Given the description of an element on the screen output the (x, y) to click on. 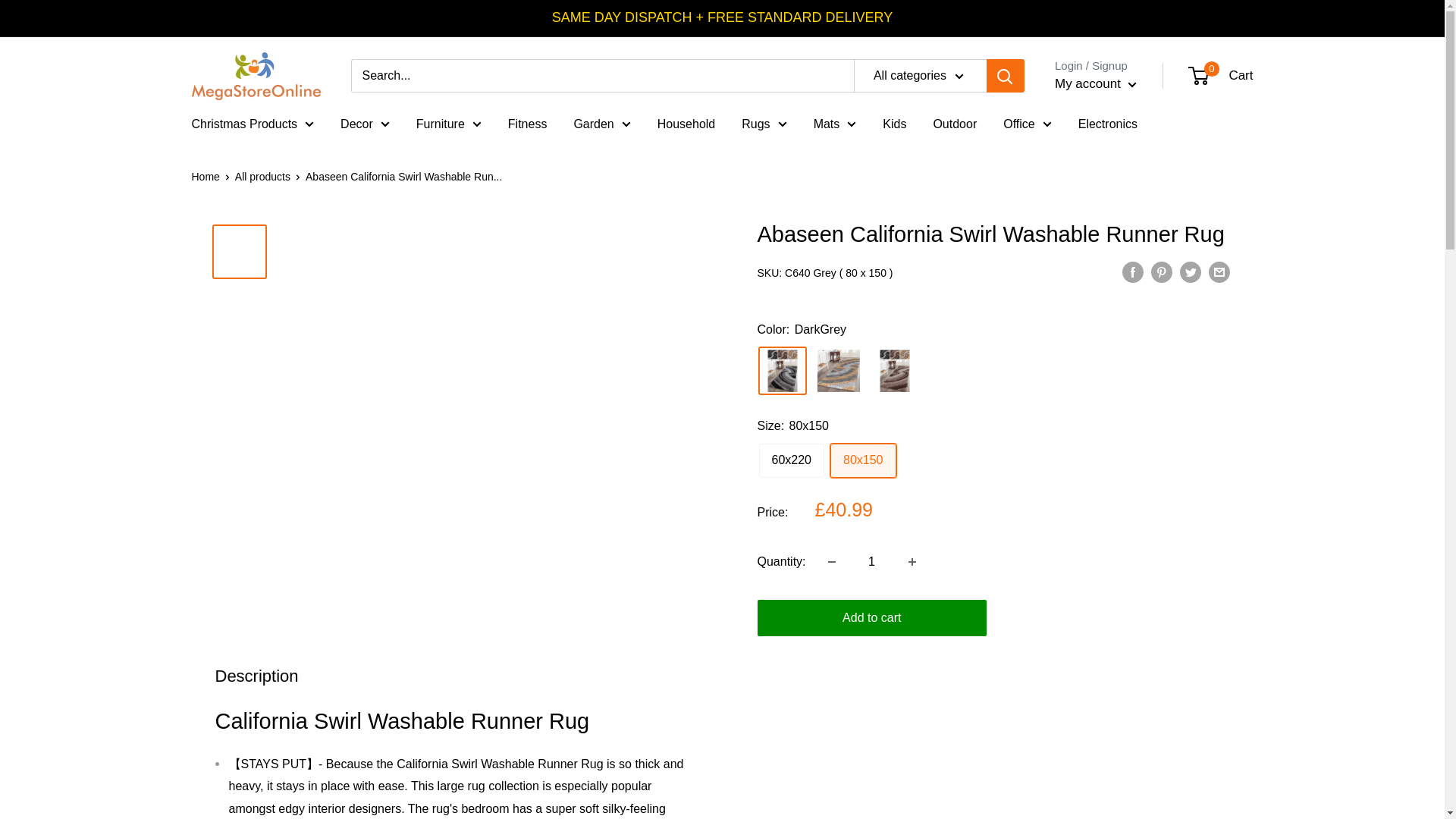
DarkGrey (782, 370)
Gold (838, 370)
Increase quantity by 1 (912, 562)
SaddleBrown (894, 370)
1 (871, 562)
60x220 (791, 460)
80x150 (862, 460)
Decrease quantity by 1 (831, 562)
